Given the description of an element on the screen output the (x, y) to click on. 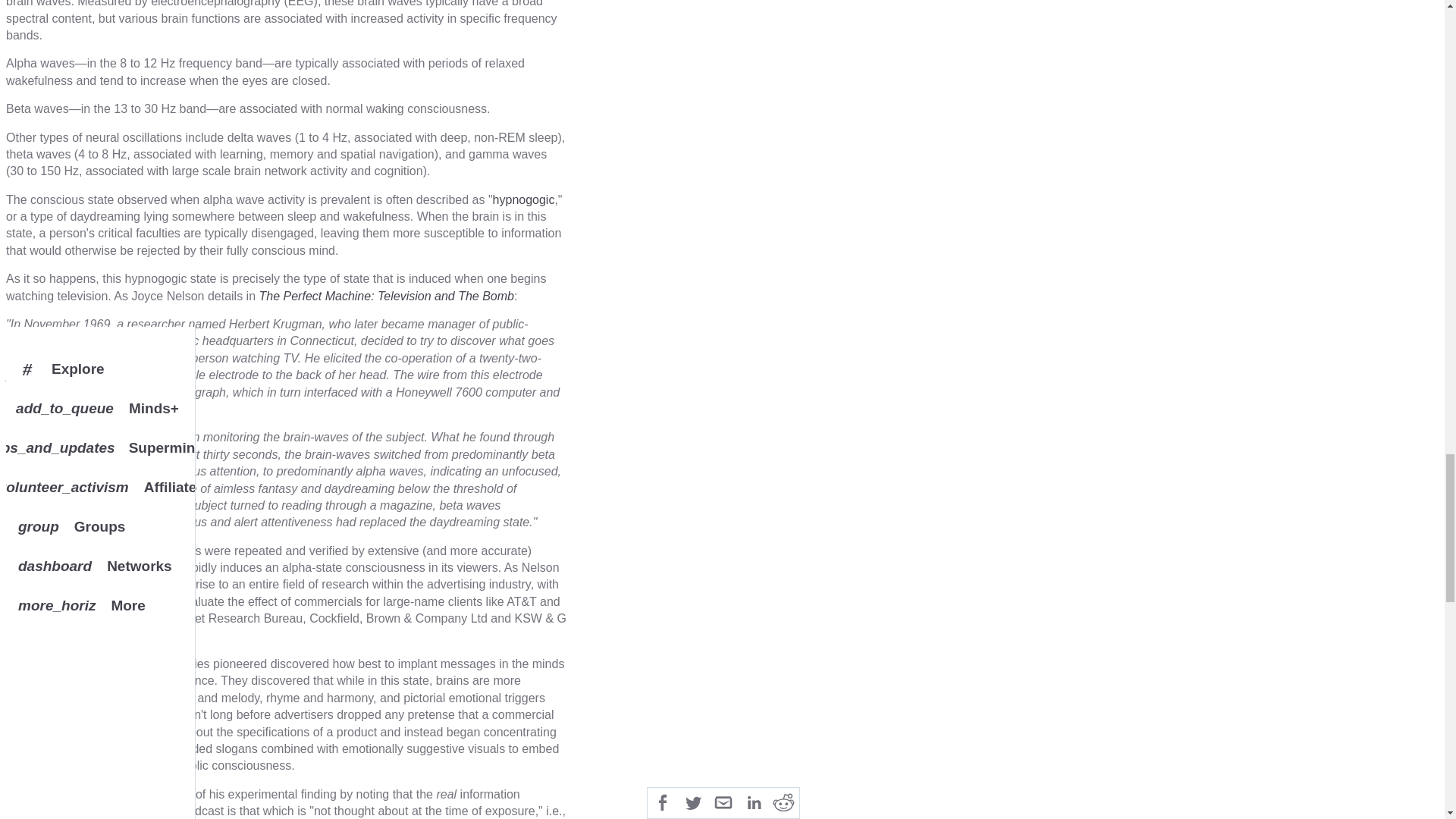
hypnogogic (523, 199)
The Perfect Machine: Television and The Bomb (386, 295)
